Given the description of an element on the screen output the (x, y) to click on. 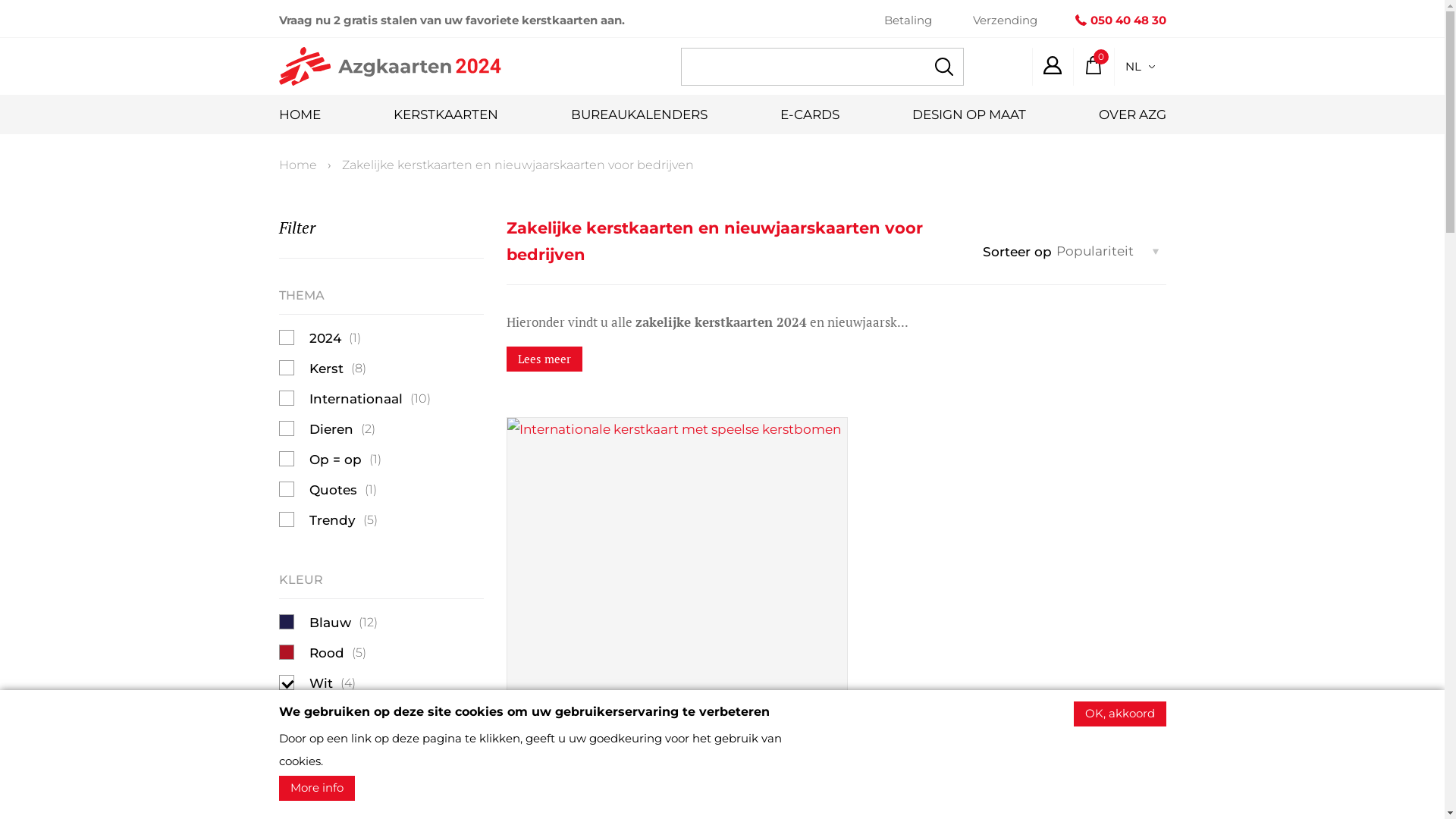
E-CARDS Element type: text (808, 114)
KERSTKAARTEN Element type: text (444, 114)
More info Element type: text (316, 787)
0 items Element type: text (1092, 64)
Overslaan en naar de inhoud gaan Element type: text (0, 0)
Apply Element type: text (943, 66)
Apply Element type: text (27, 12)
OVER AZG Element type: text (1131, 114)
Home Element type: text (297, 164)
NL Element type: text (1138, 66)
DESIGN OP MAAT Element type: text (968, 114)
Betaling Element type: text (907, 20)
Lees meer Element type: text (544, 358)
Zakelijke kerstkaarten en nieuwjaarskaarten voor bedrijven Element type: text (517, 164)
OK, akkoord Element type: text (1119, 713)
Verzending Element type: text (1004, 20)
HOME Element type: text (299, 114)
BUREAUKALENDERS Element type: text (638, 114)
